Given the description of an element on the screen output the (x, y) to click on. 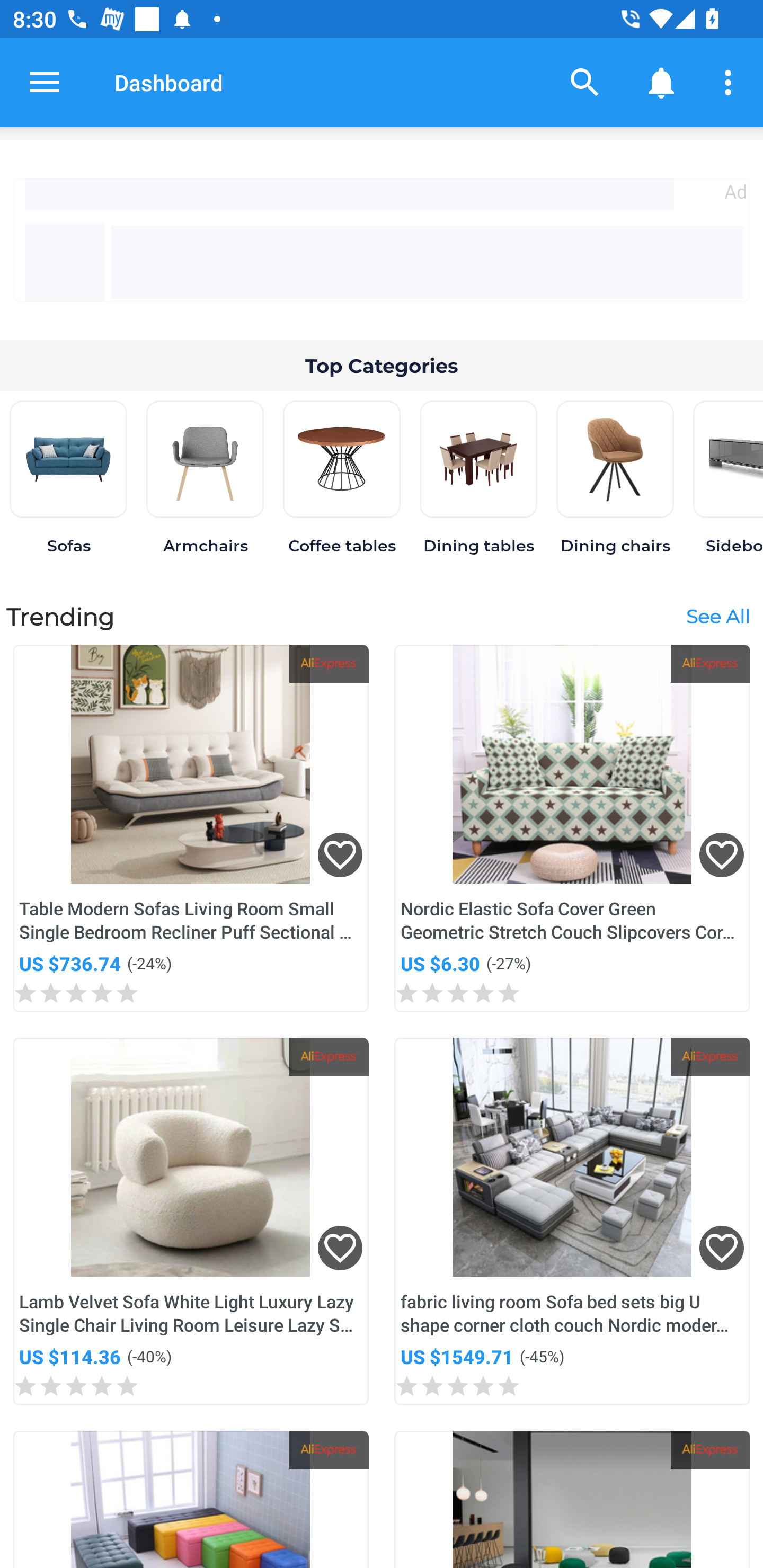
Open navigation drawer (44, 82)
Search (585, 81)
More options (731, 81)
See All (717, 615)
